Given the description of an element on the screen output the (x, y) to click on. 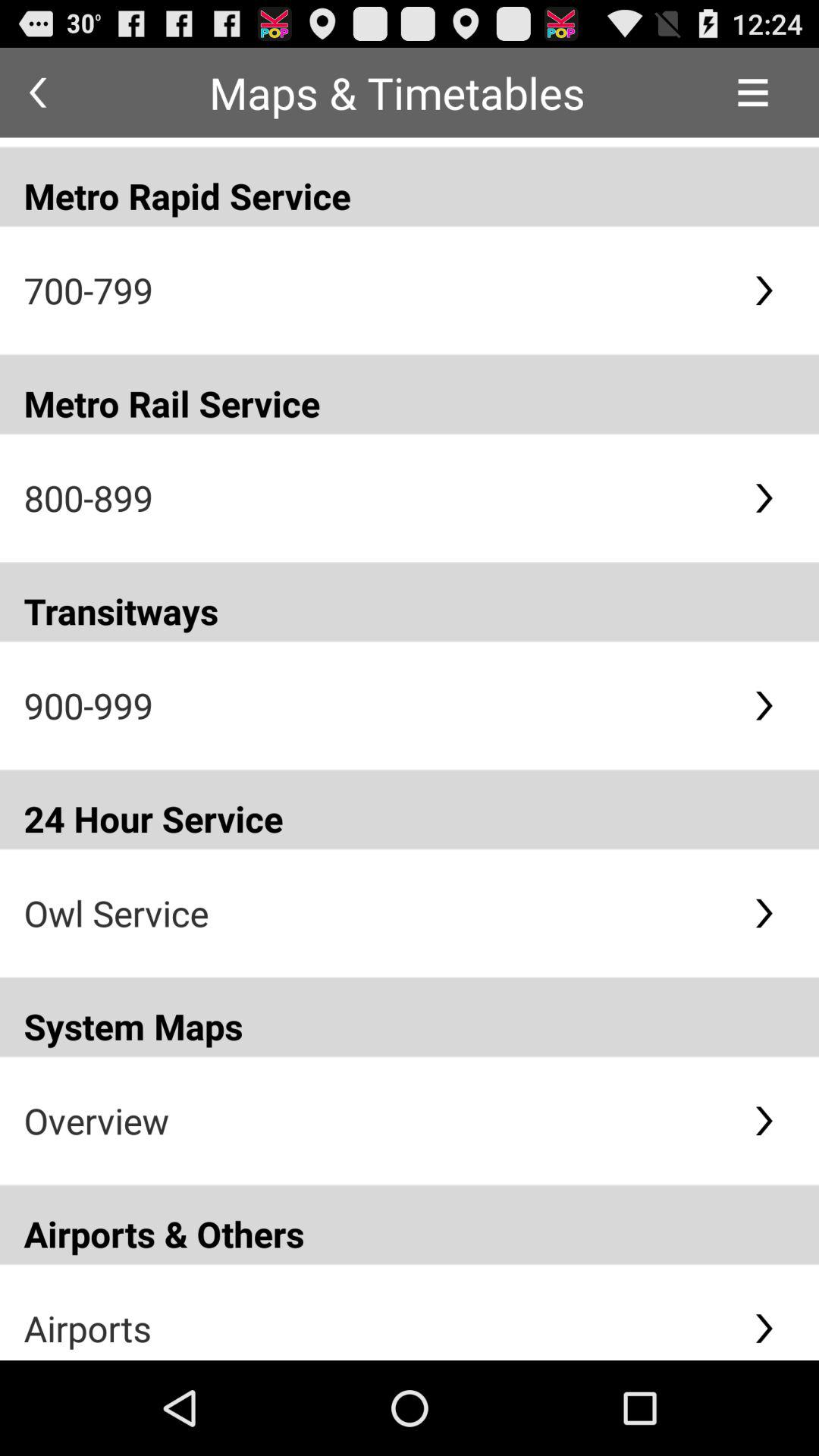
swipe until overview item (376, 1120)
